Given the description of an element on the screen output the (x, y) to click on. 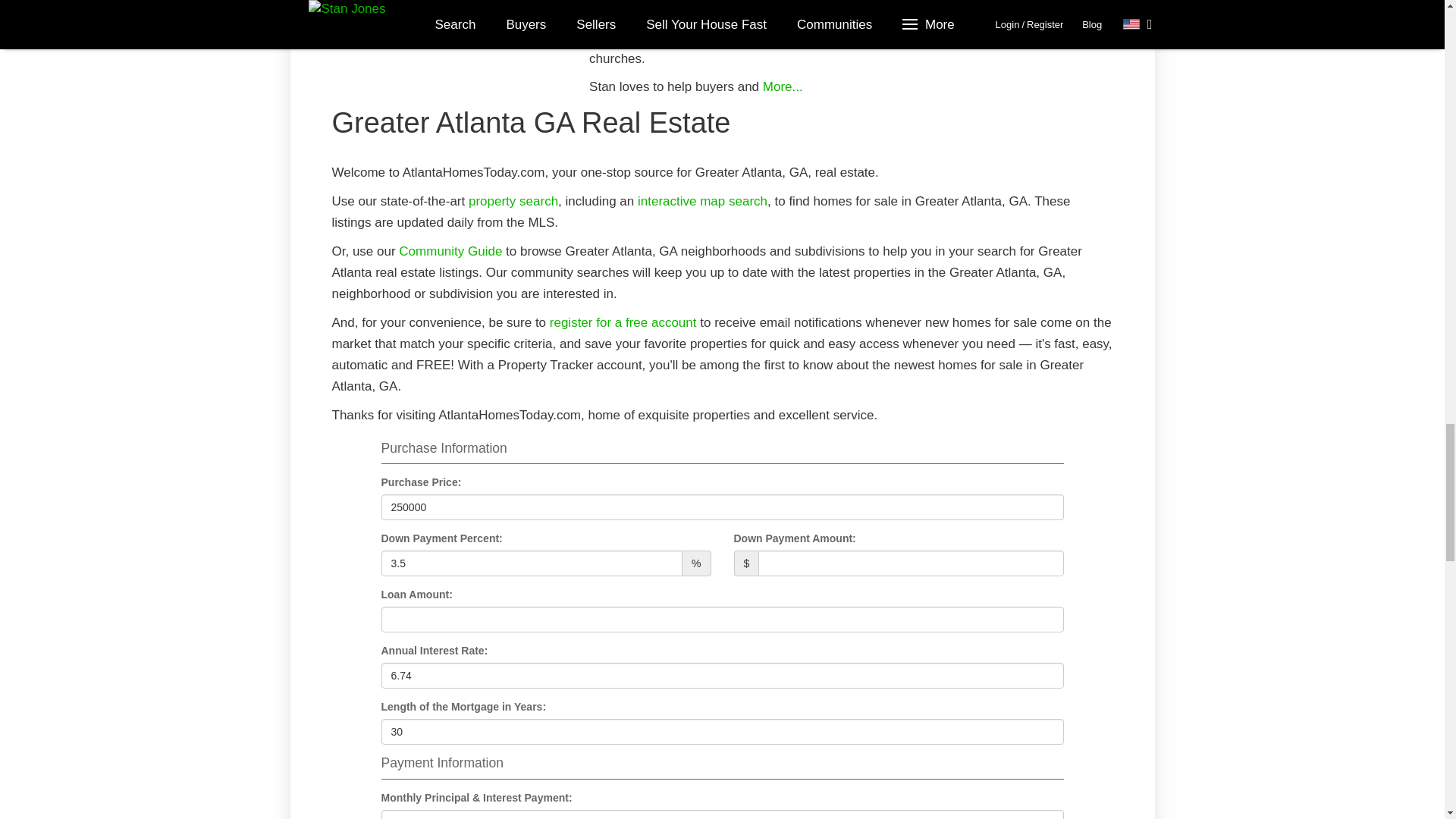
30 (721, 731)
6.74 (721, 675)
3.5 (531, 563)
250000 (721, 507)
